Given the description of an element on the screen output the (x, y) to click on. 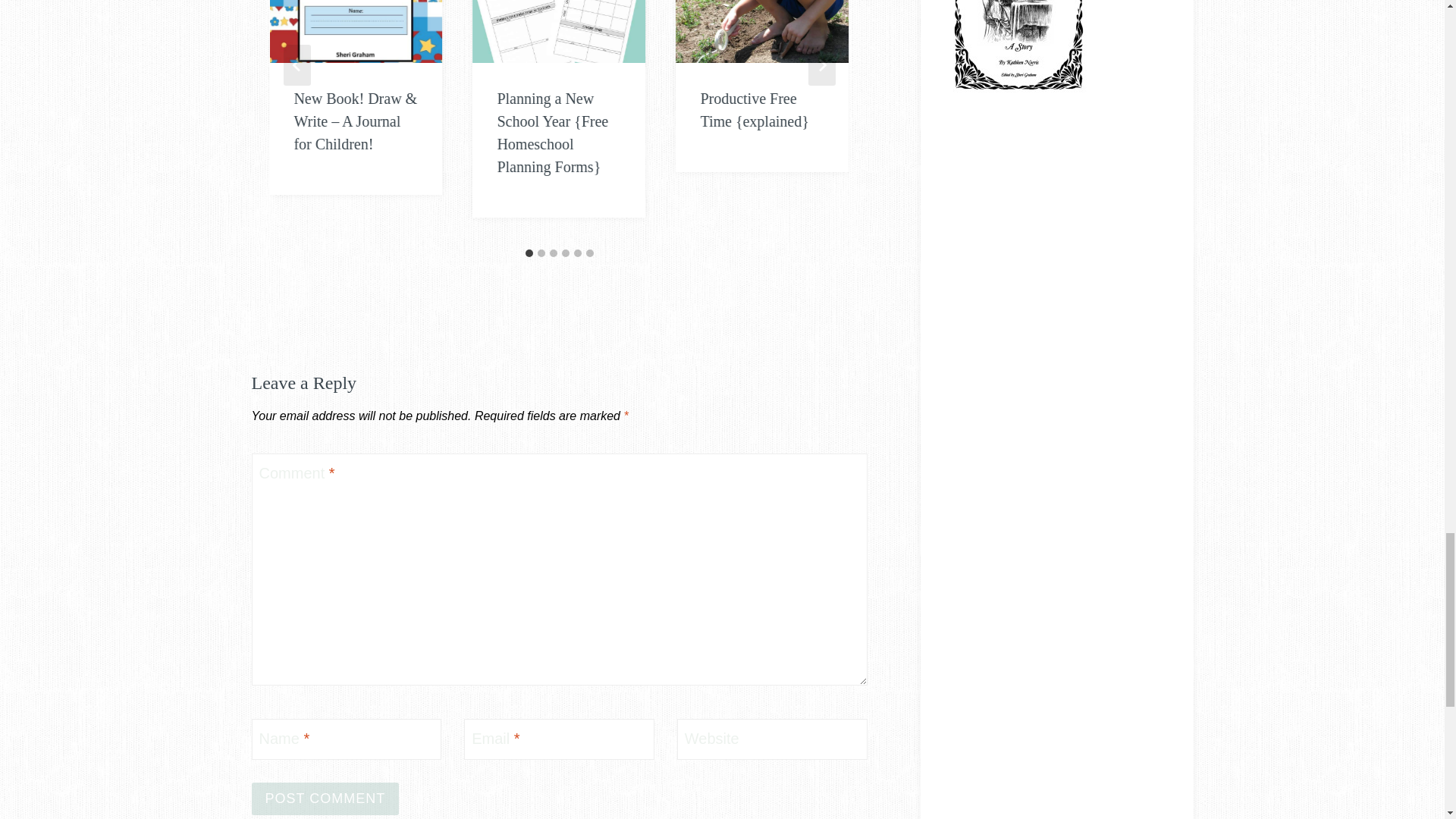
Post Comment (324, 798)
